Given the description of an element on the screen output the (x, y) to click on. 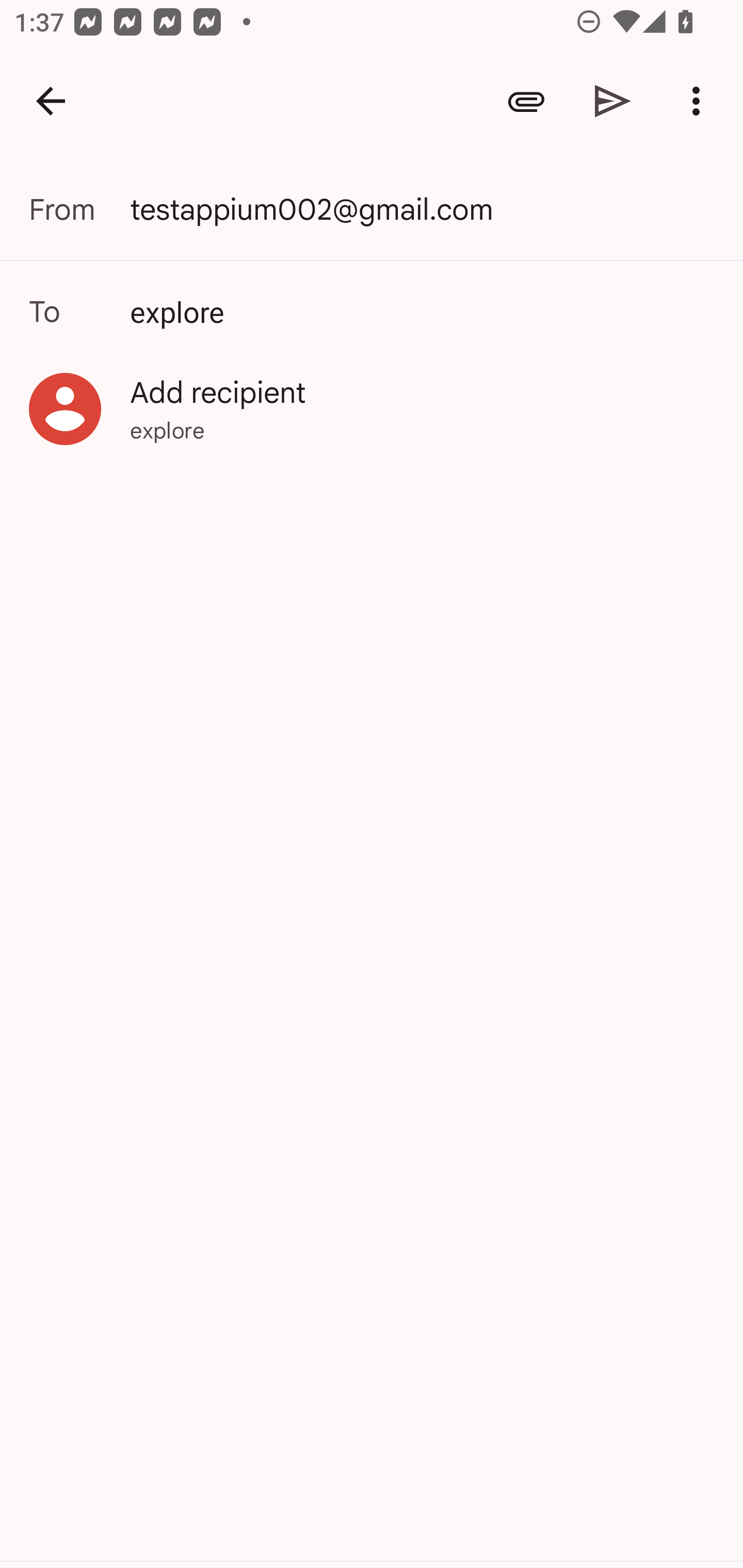
Navigate up (50, 101)
Attach file (525, 101)
Send (612, 101)
More options (699, 101)
From (79, 209)
explore (371, 311)
explore (425, 311)
Add recipient explore (371, 408)
